Given the description of an element on the screen output the (x, y) to click on. 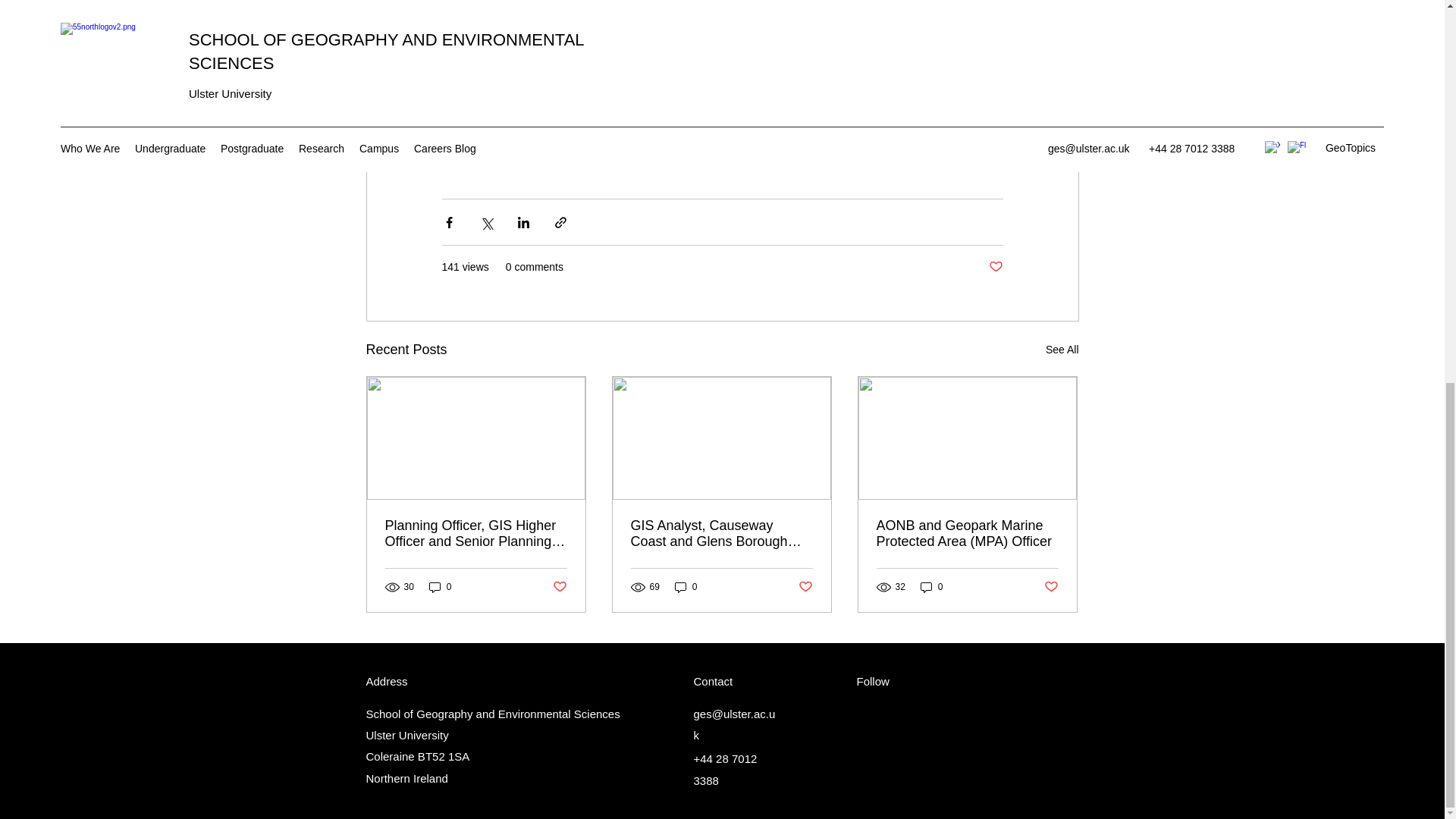
GIS Analyst, Causeway Coast and Glens Borough Council (721, 533)
0 (931, 586)
0 (440, 586)
0 (685, 586)
Post not marked as liked (558, 587)
Post not marked as liked (1050, 587)
Post not marked as liked (995, 267)
See All (1061, 350)
Post not marked as liked (804, 587)
